Given the description of an element on the screen output the (x, y) to click on. 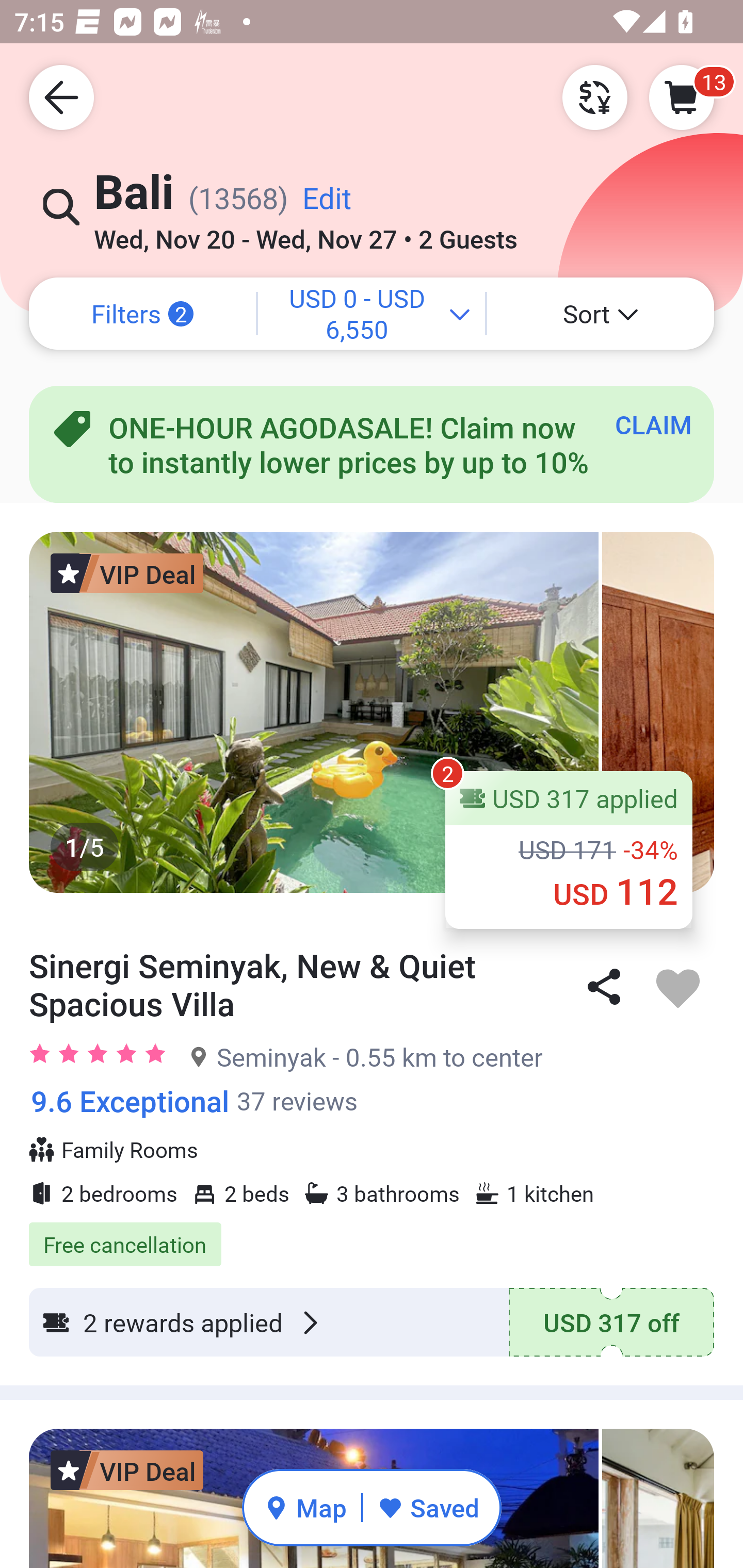
Filters 2 (141, 313)
⁦USD 0⁩ - ⁦USD 6,550⁩ (371, 313)
Sort (600, 313)
CLAIM (653, 424)
VIP Deal (126, 572)
1/5 (371, 711)
USD 317 applied ‪USD 171 -34% ‪USD 112 2 (568, 849)
Free cancellation (371, 1233)
2 rewards applied USD 317 off (371, 1322)
VIP Deal (126, 1469)
Map (305, 1507)
Saved (428, 1507)
